Given the description of an element on the screen output the (x, y) to click on. 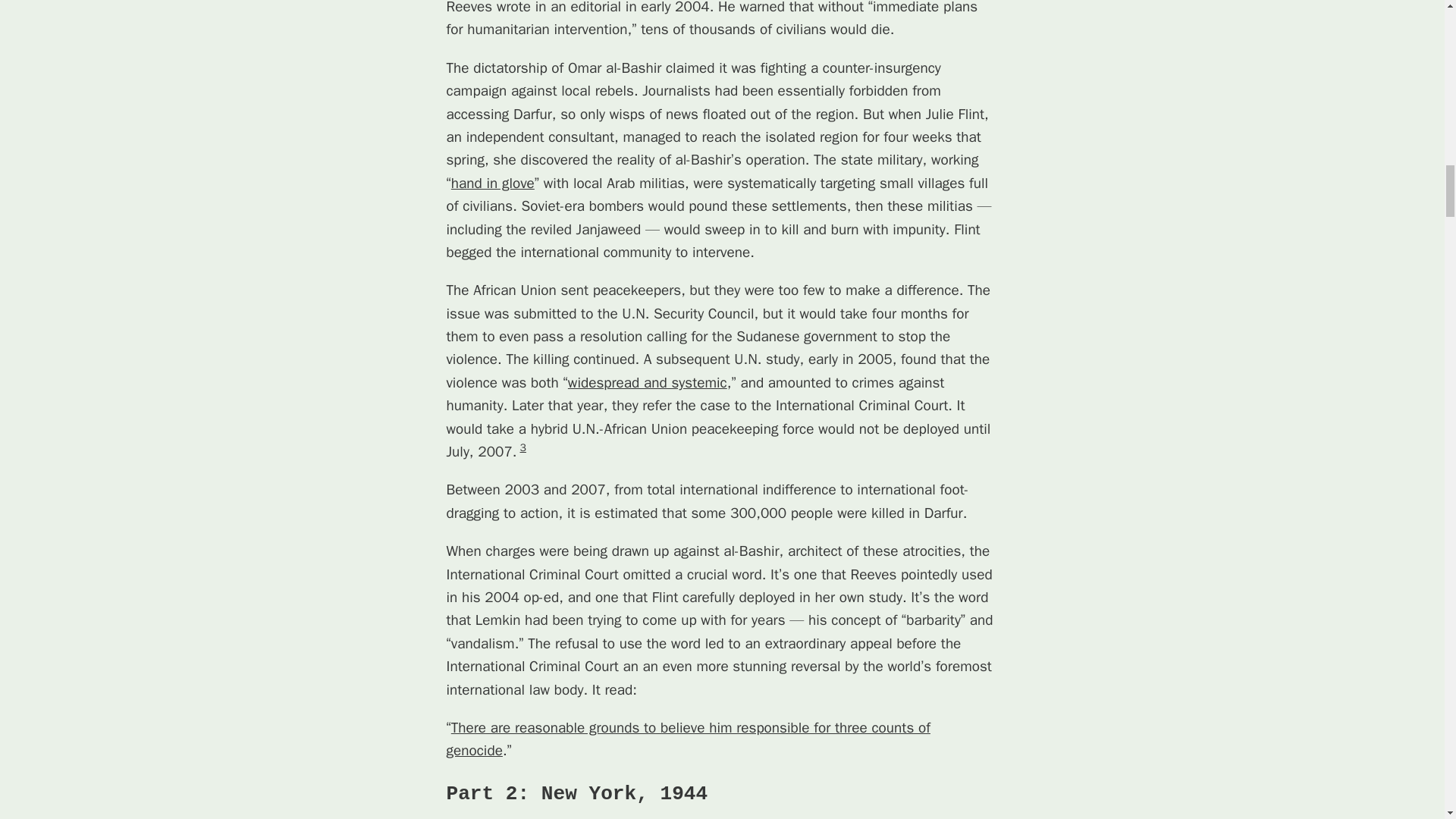
widespread and systemic (646, 382)
hand in glove (492, 183)
